Given the description of an element on the screen output the (x, y) to click on. 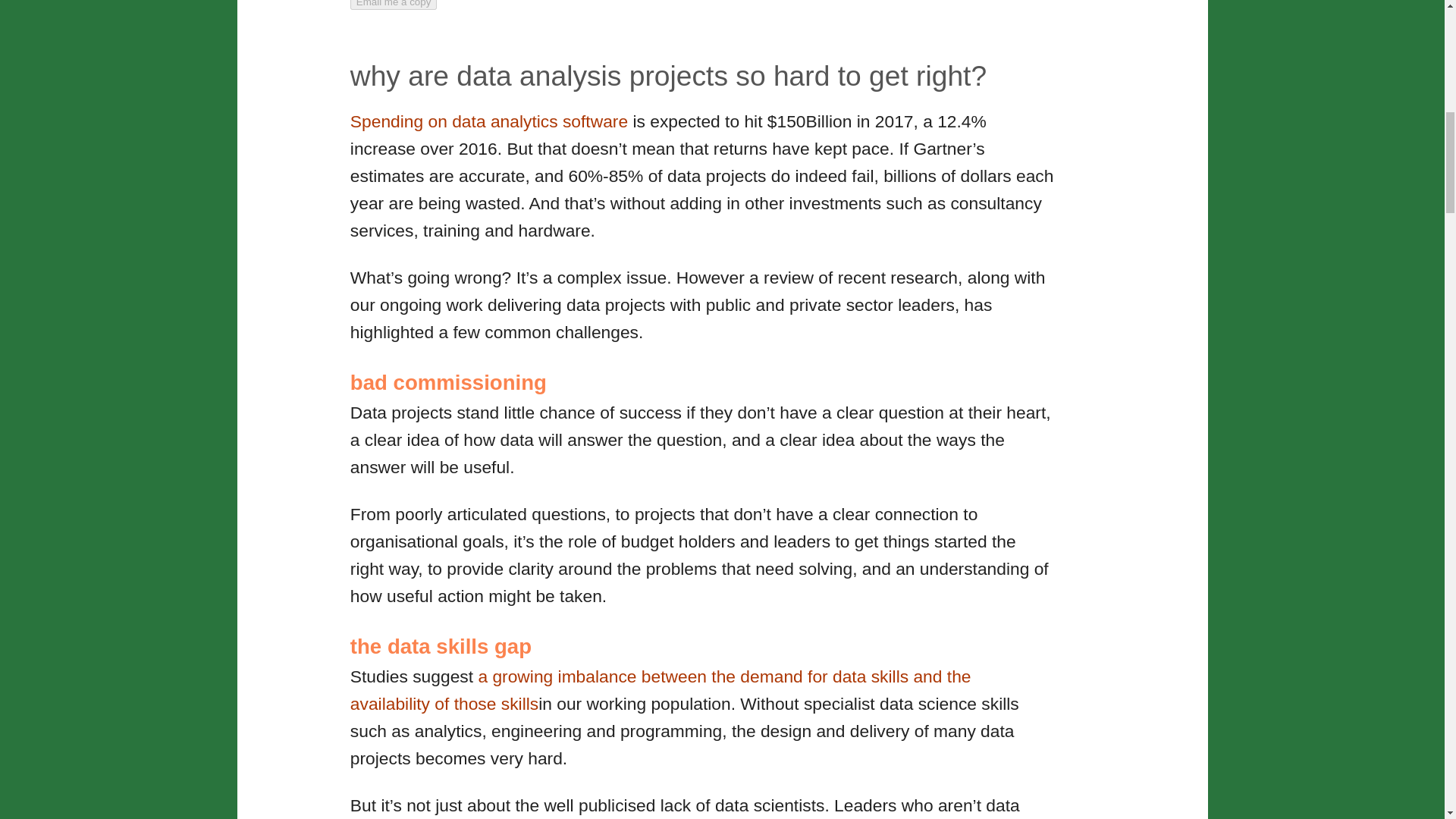
Spending on data analytics software  (491, 121)
Email me a copy (394, 4)
Email me a copy (394, 4)
